Given the description of an element on the screen output the (x, y) to click on. 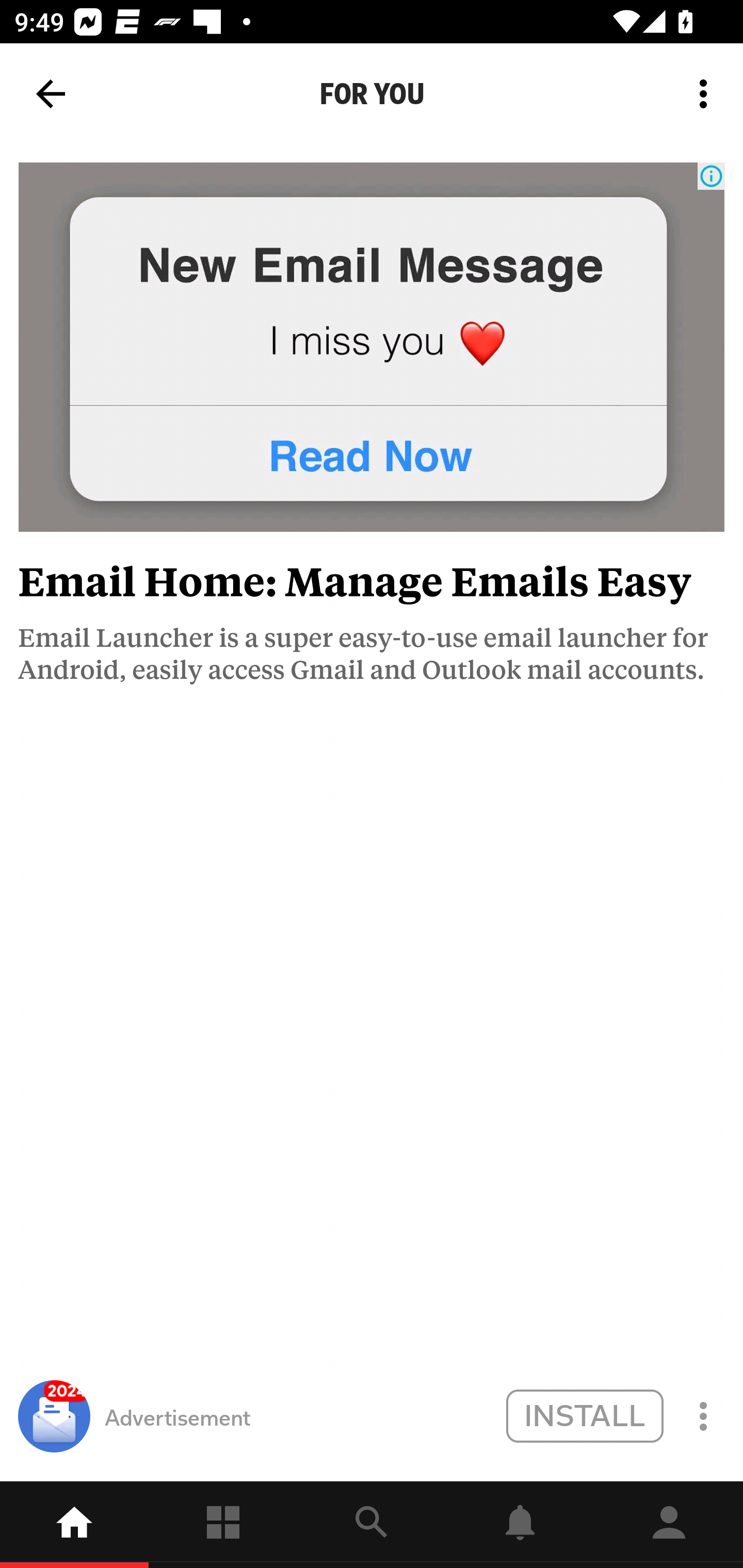
Back (50, 93)
FOR YOU (371, 93)
More options (706, 93)
Ad Choices Icon (711, 176)
INSTALL (584, 1415)
home (74, 1524)
Following (222, 1524)
explore (371, 1524)
Notifications (519, 1524)
Profile (668, 1524)
